Given the description of an element on the screen output the (x, y) to click on. 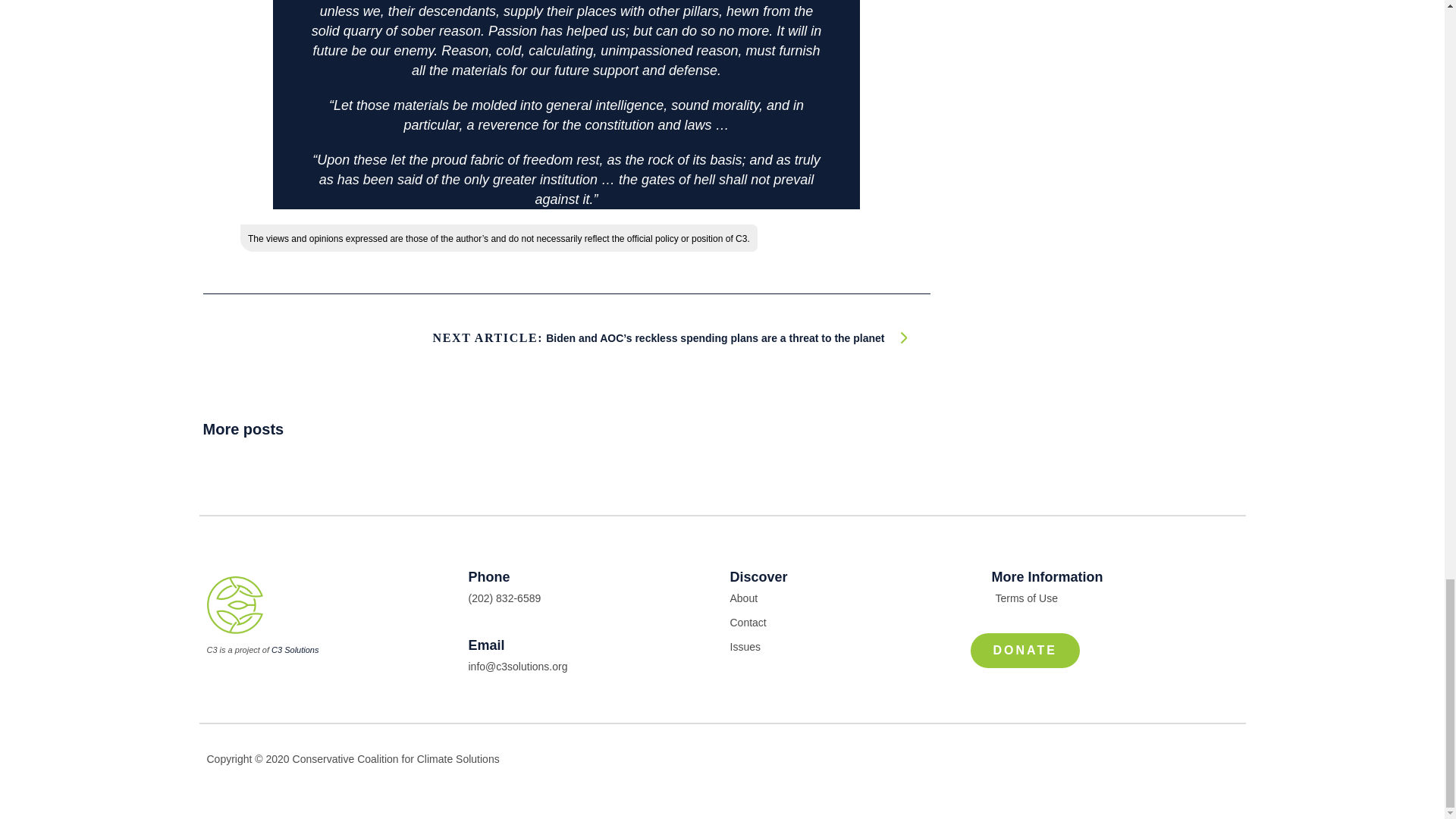
Contact (852, 622)
C3 Solutions (293, 649)
Terms of Use (1115, 597)
Issues (852, 646)
About (852, 597)
DONATE (1025, 650)
